Given the description of an element on the screen output the (x, y) to click on. 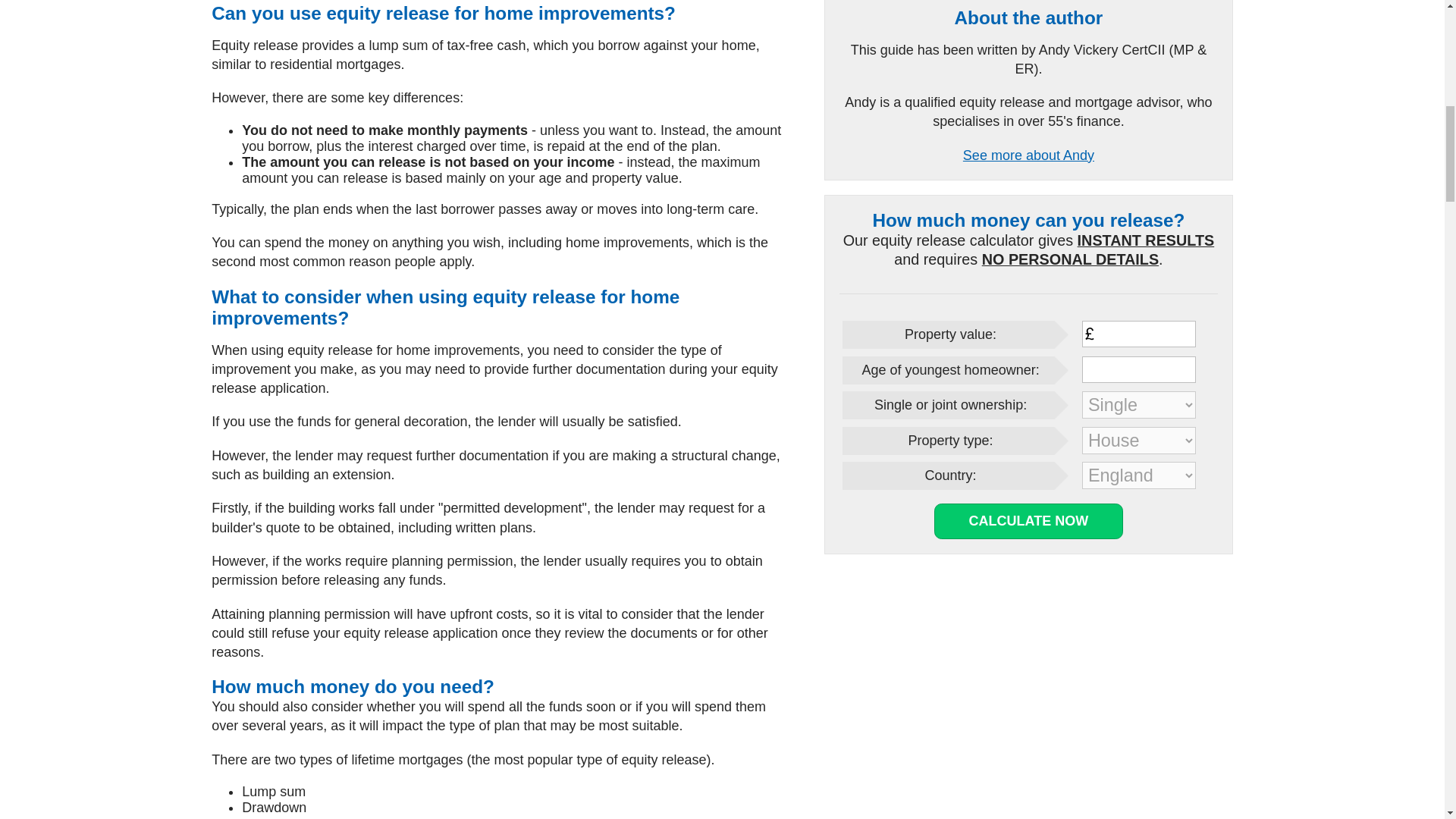
CALCULATE NOW (1028, 520)
See more about Andy (1028, 155)
How much money can you release? (1028, 219)
